Given the description of an element on the screen output the (x, y) to click on. 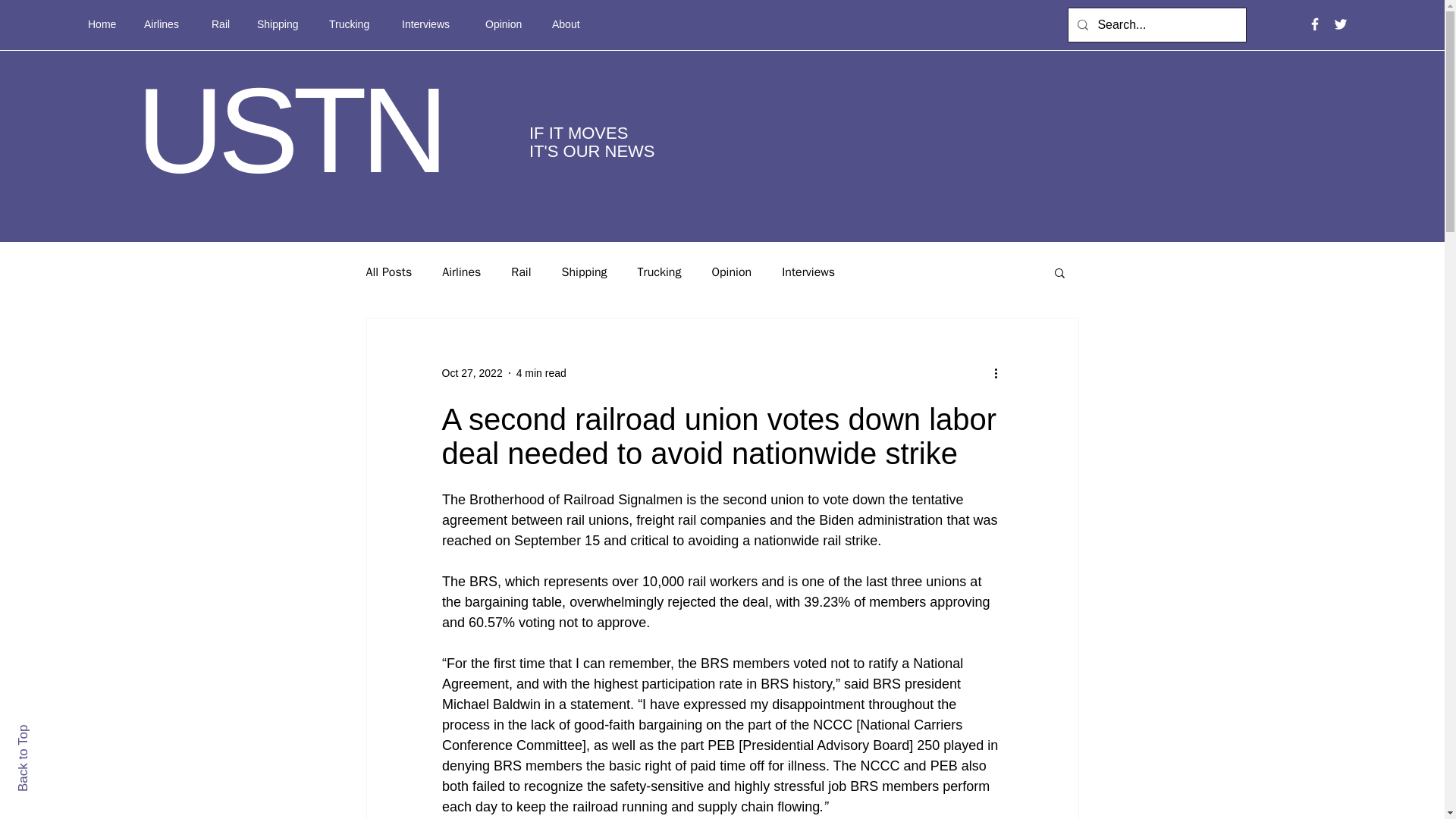
Opinion (507, 24)
Rail (223, 24)
All Posts (388, 271)
USTN (289, 130)
Opinion (731, 271)
Oct 27, 2022 (471, 372)
Shipping (584, 271)
Airlines (166, 24)
About (568, 24)
4 min read (541, 372)
Home (104, 24)
Airlines (461, 271)
Interviews (807, 271)
Trucking (353, 24)
Rail (521, 271)
